Given the description of an element on the screen output the (x, y) to click on. 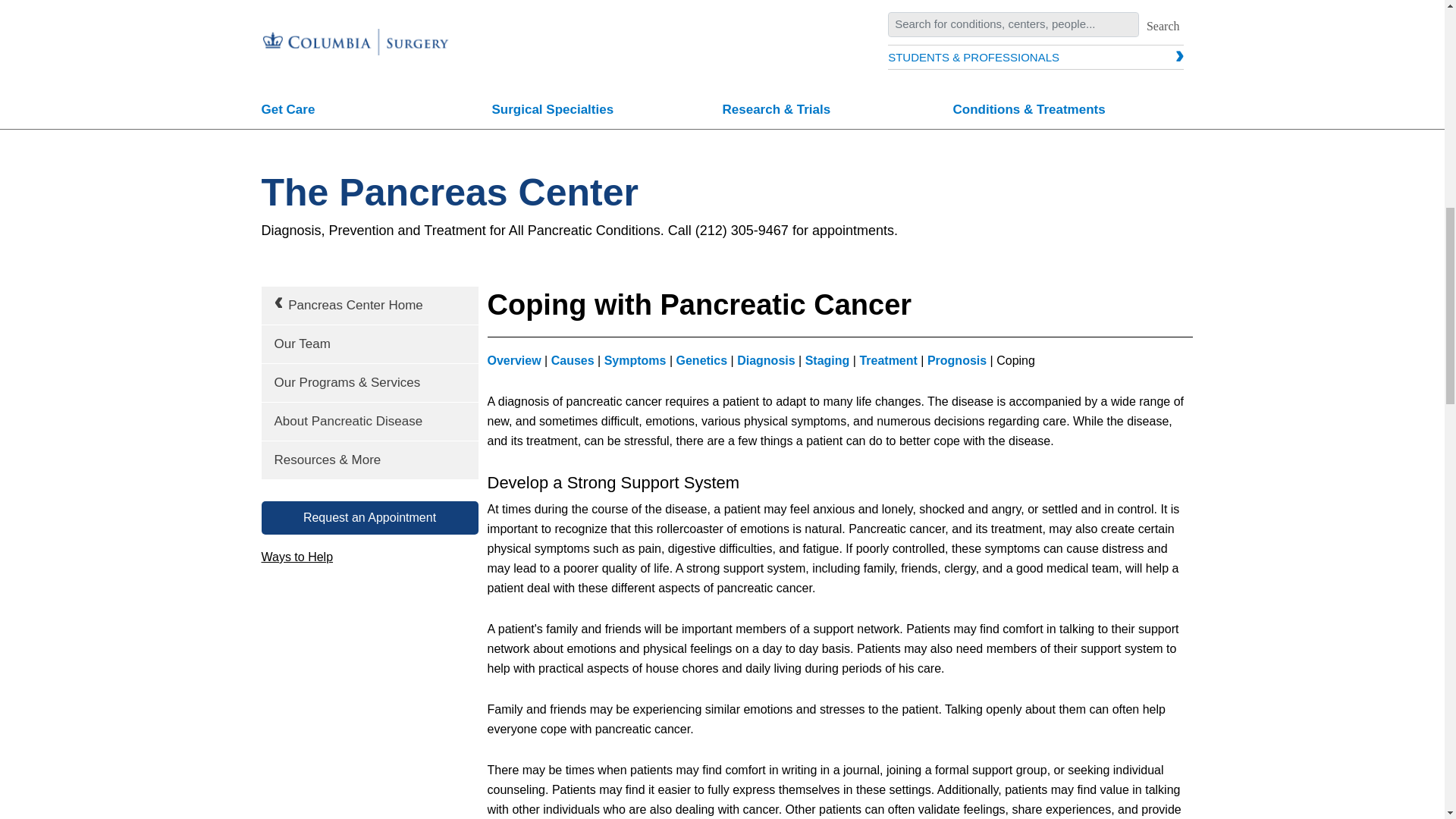
Get Care (376, 111)
Search (1163, 26)
Home (356, 23)
Surgical Specialties (607, 111)
